Given the description of an element on the screen output the (x, y) to click on. 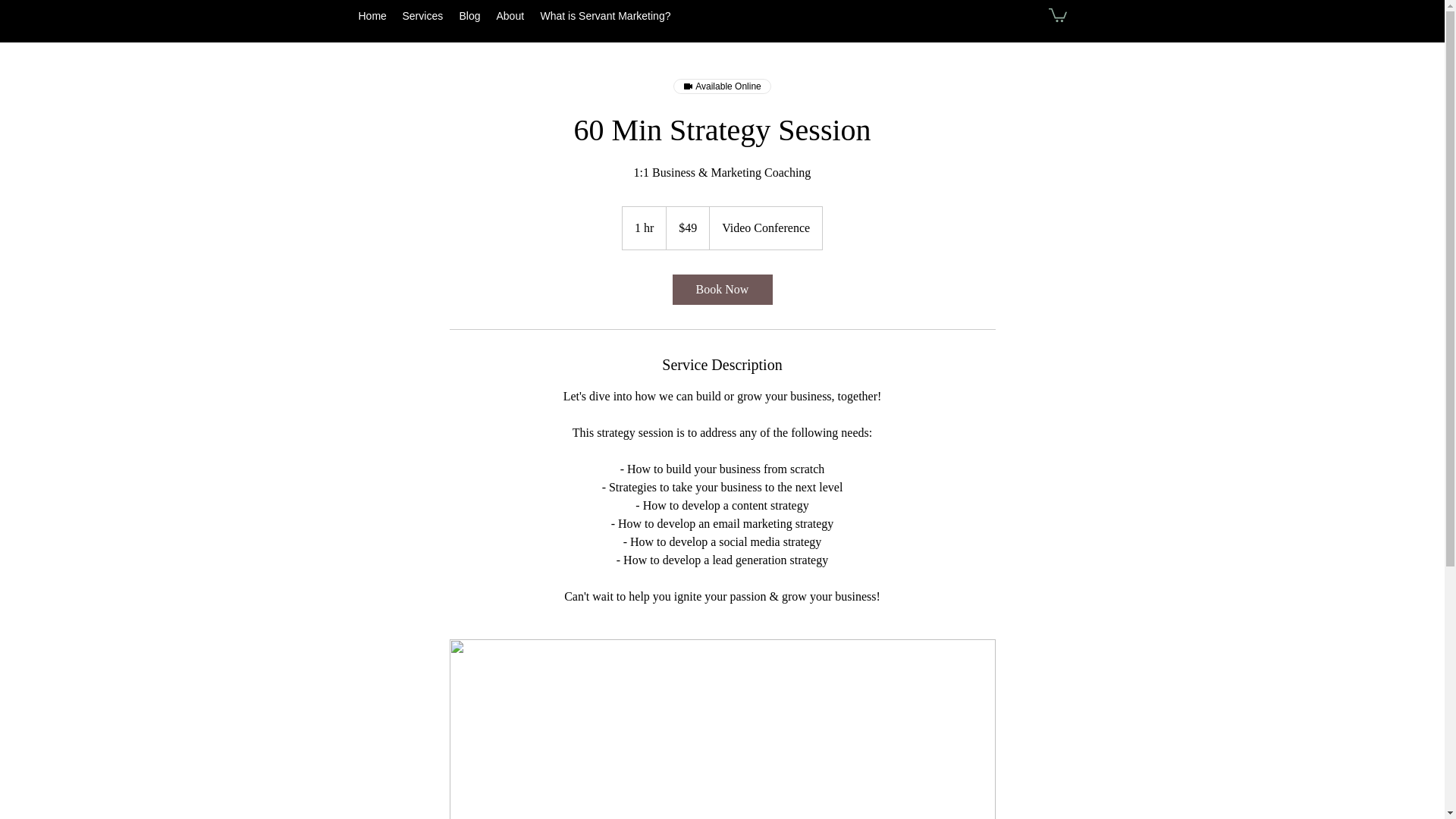
Home (372, 15)
Book Now (721, 289)
Blog (470, 15)
What is Servant Marketing? (605, 15)
About (509, 15)
Services (422, 15)
